Given the description of an element on the screen output the (x, y) to click on. 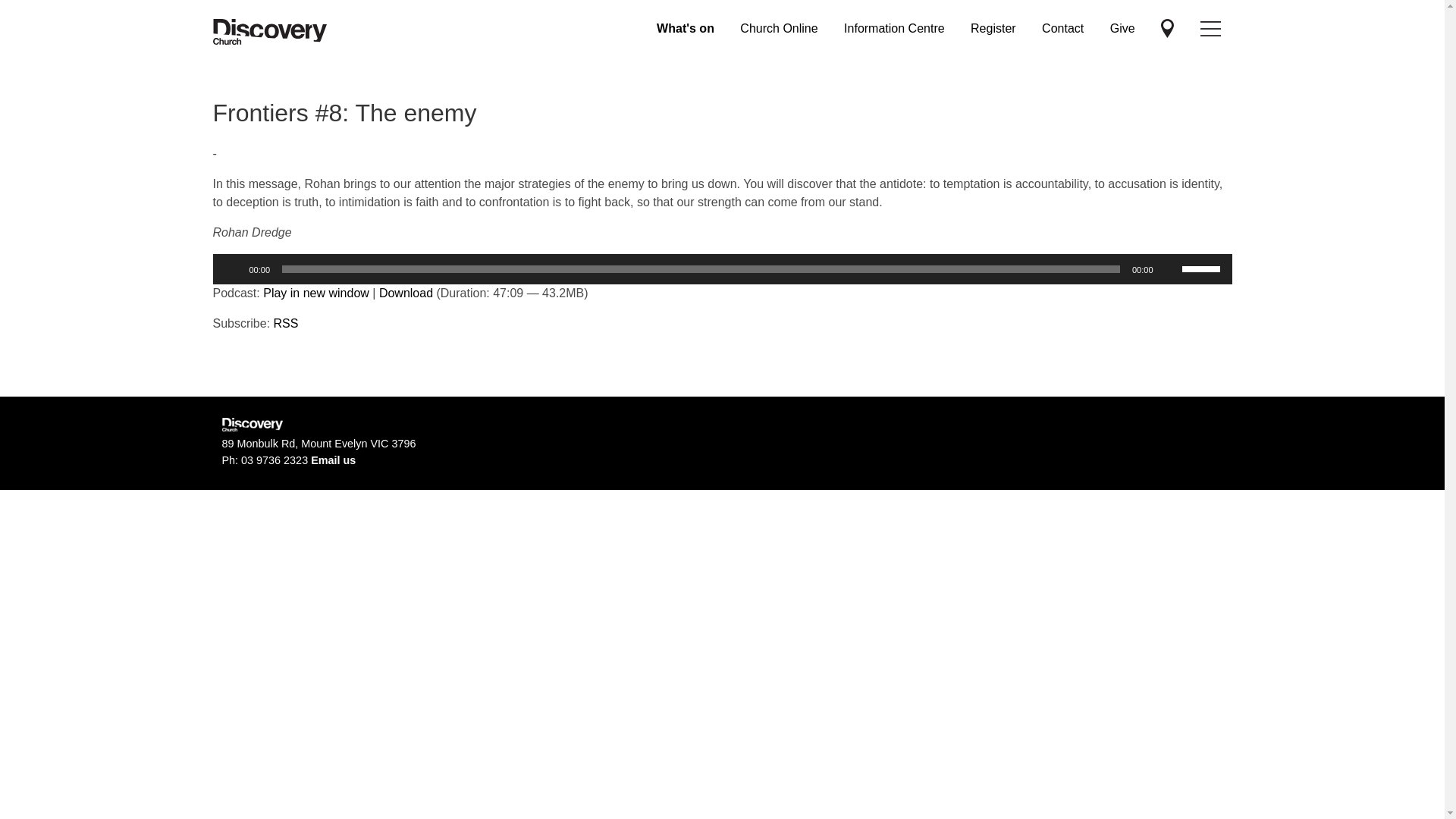
Play in new window Element type: text (316, 292)
Discovery Church Element type: hover (1167, 27)
Mute Element type: hover (1168, 268)
Discovery Church Element type: hover (1209, 28)
What's on Element type: text (685, 27)
RSS Element type: text (285, 322)
Discovery Church Element type: hover (269, 31)
Church Online Element type: text (778, 27)
Give Element type: text (1122, 27)
Use Up/Down Arrow keys to increase or decrease volume. Element type: text (1202, 266)
Play Element type: hover (231, 268)
Download Element type: text (406, 292)
Register Element type: text (993, 27)
Email us Element type: text (332, 460)
Information Centre Element type: text (894, 27)
Contact Element type: text (1062, 27)
